Given the description of an element on the screen output the (x, y) to click on. 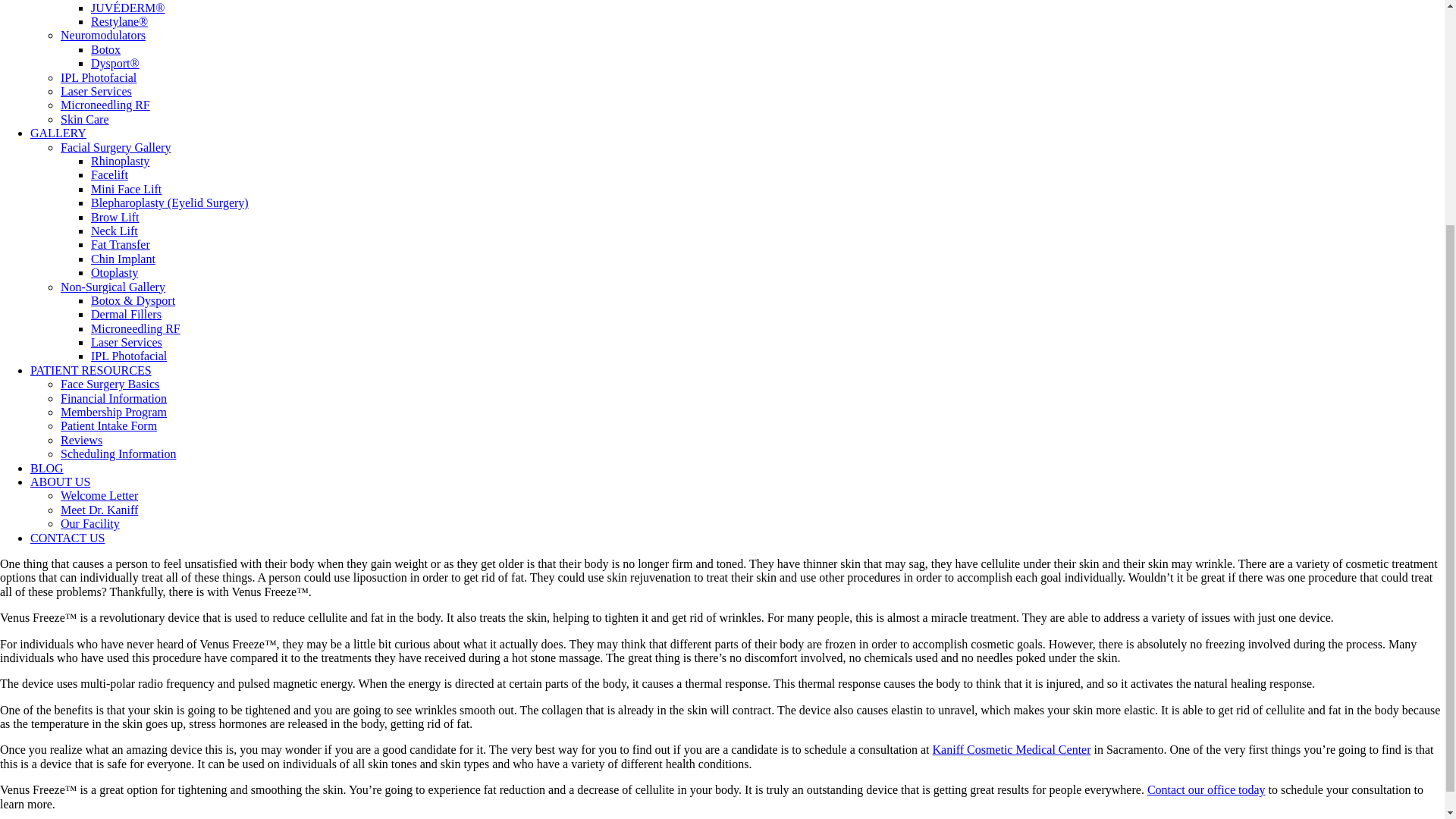
IPL Photofacial (98, 77)
Mini Face Lift (125, 188)
Neck Lift (114, 230)
Skin Care (85, 119)
Fat Transfer (119, 244)
Laser Services (96, 91)
Microneedling RF (105, 104)
Chin Implant (122, 258)
Botox (105, 49)
Rhinoplasty (119, 160)
